Given the description of an element on the screen output the (x, y) to click on. 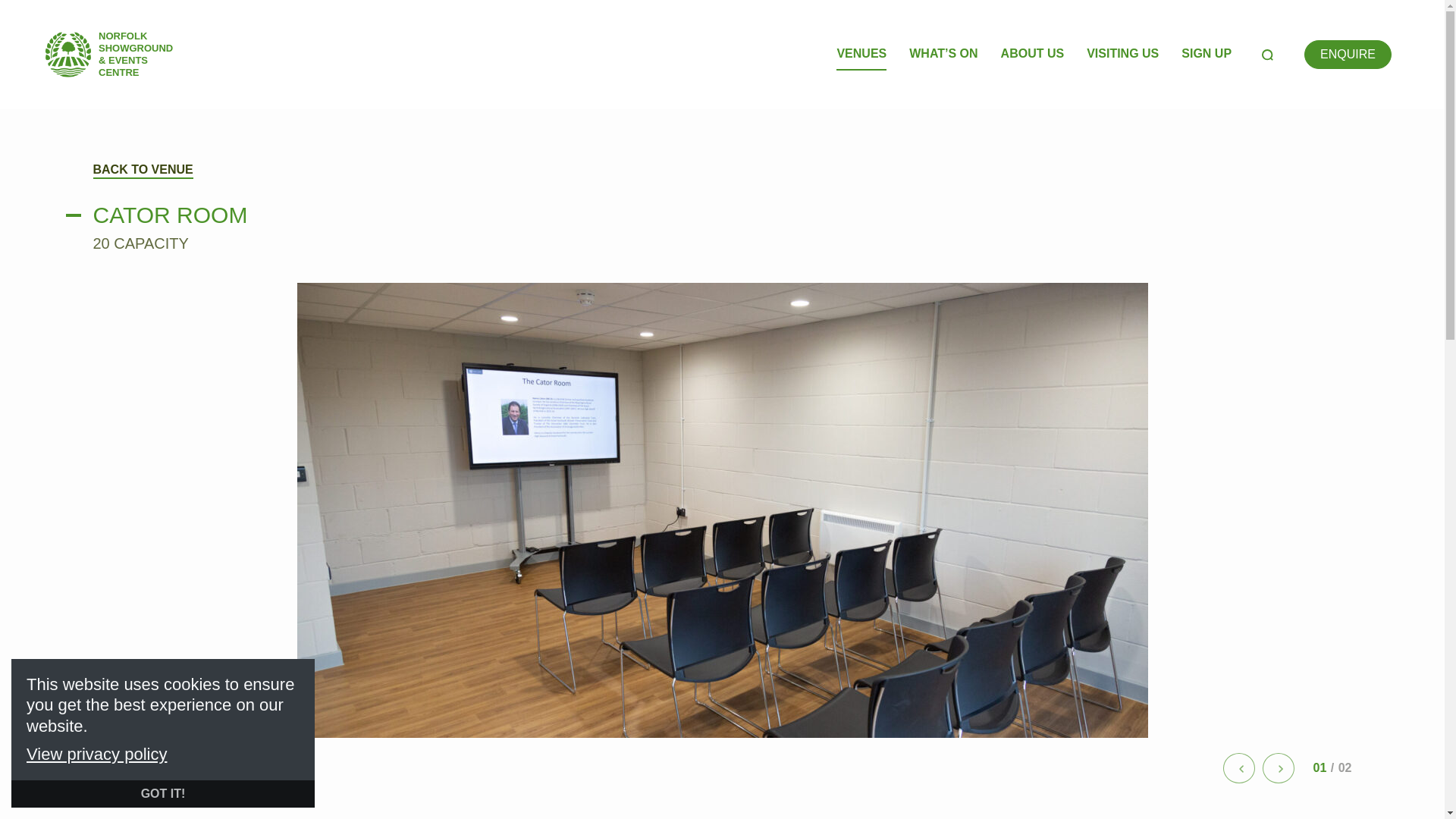
BACK TO VENUE (142, 170)
ABOUT US (1032, 54)
Back to venue (142, 170)
Enquire (1347, 54)
SIGN UP (1205, 54)
VENUES (860, 54)
ENQUIRE (1347, 54)
VISITING US (1122, 54)
